Given the description of an element on the screen output the (x, y) to click on. 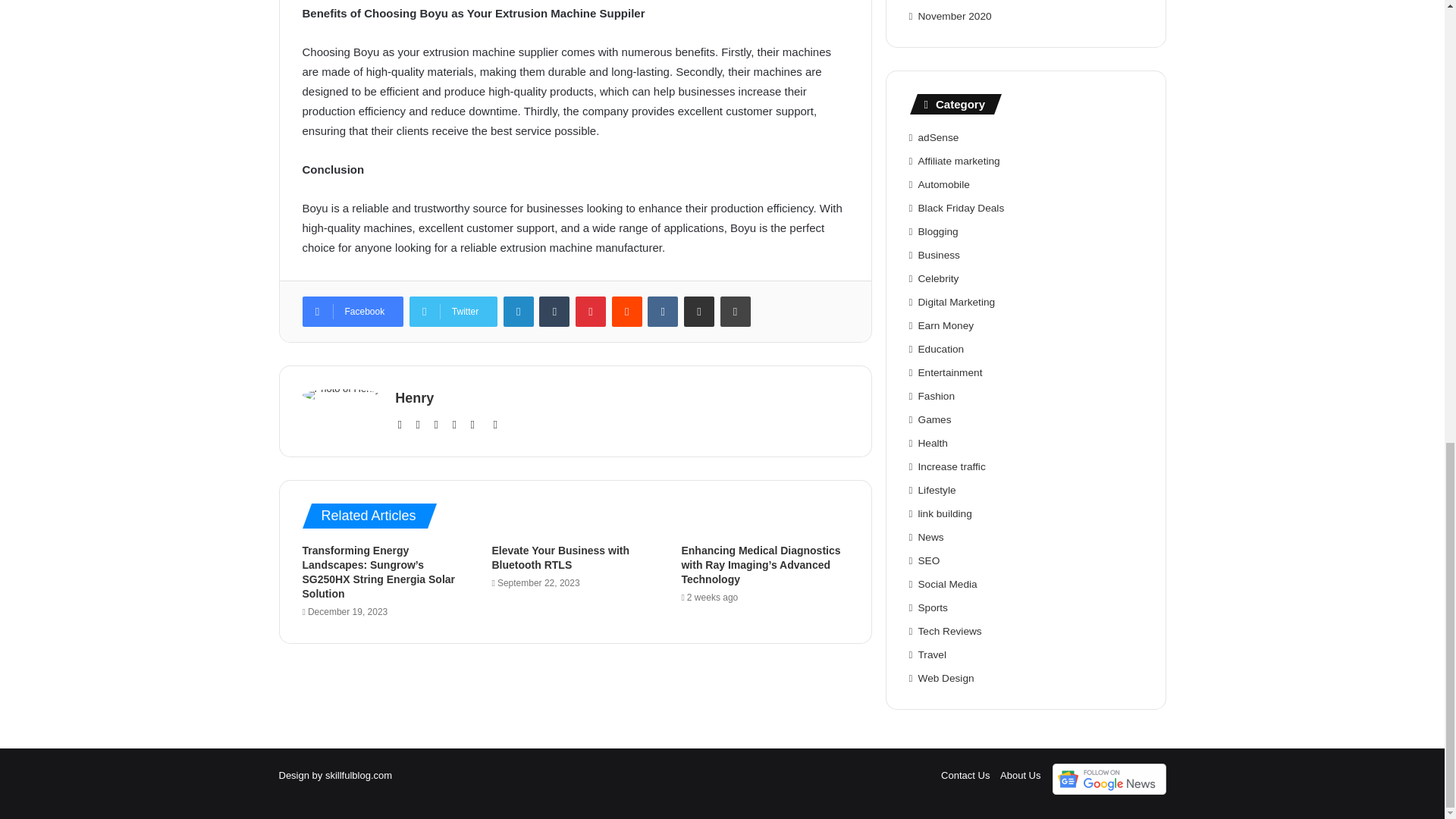
Facebook (421, 424)
Facebook (352, 310)
Twitter (453, 310)
Twitter (439, 424)
Henry (413, 396)
Share via Email (699, 310)
Reddit (626, 310)
Pinterest (590, 310)
Print (735, 310)
LinkedIn (458, 424)
